Given the description of an element on the screen output the (x, y) to click on. 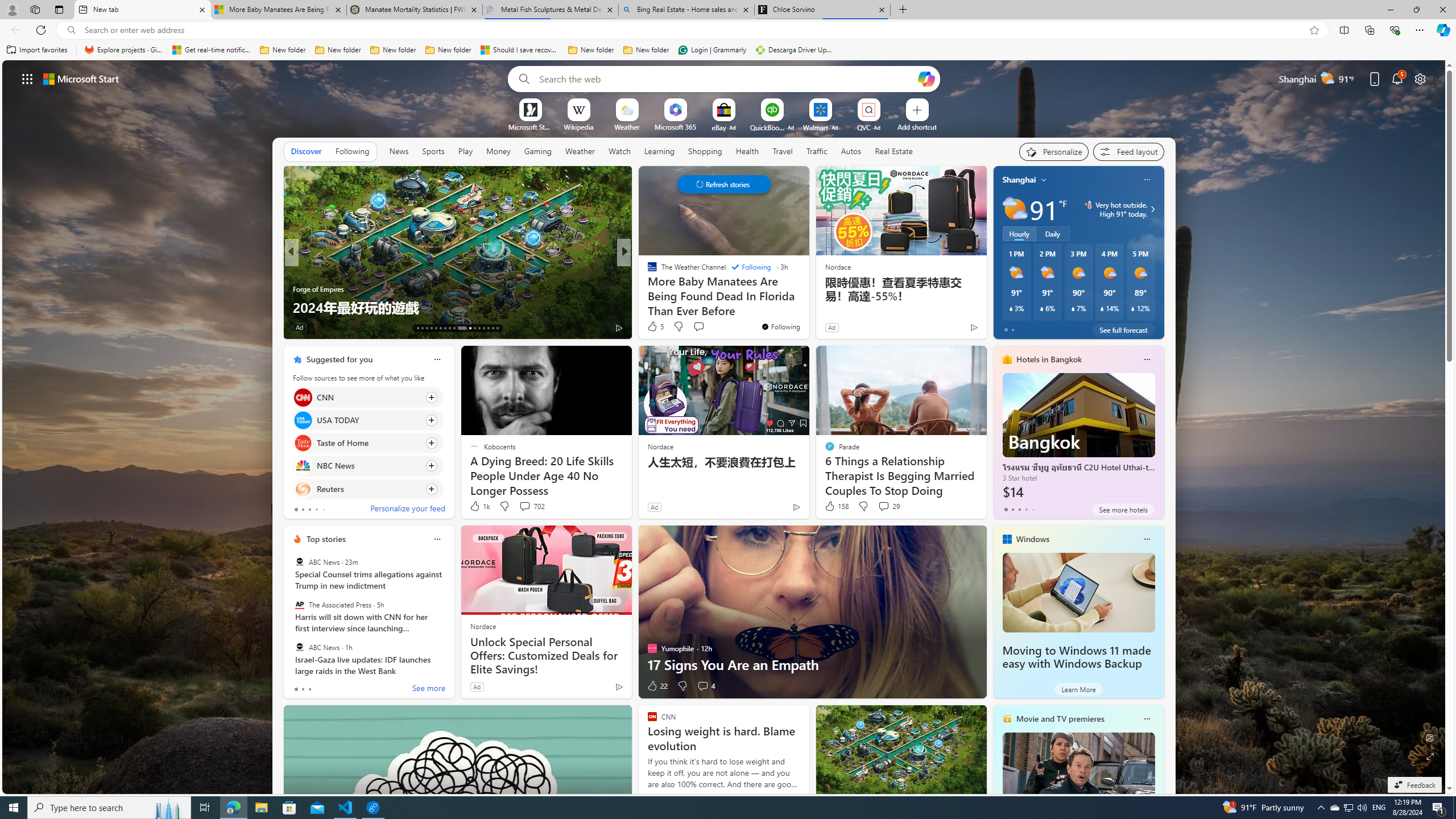
You're following The Weather Channel (780, 326)
Top 10 Worst Things To Do When Camping (807, 307)
Health (746, 151)
The Verge (647, 270)
Click to follow source CNN (367, 397)
Learning (658, 151)
AutomationID: tab-13 (417, 328)
Health (746, 151)
Nordace.com (663, 288)
Manatee Mortality Statistics | FWC (414, 9)
Watch (619, 151)
